Given the description of an element on the screen output the (x, y) to click on. 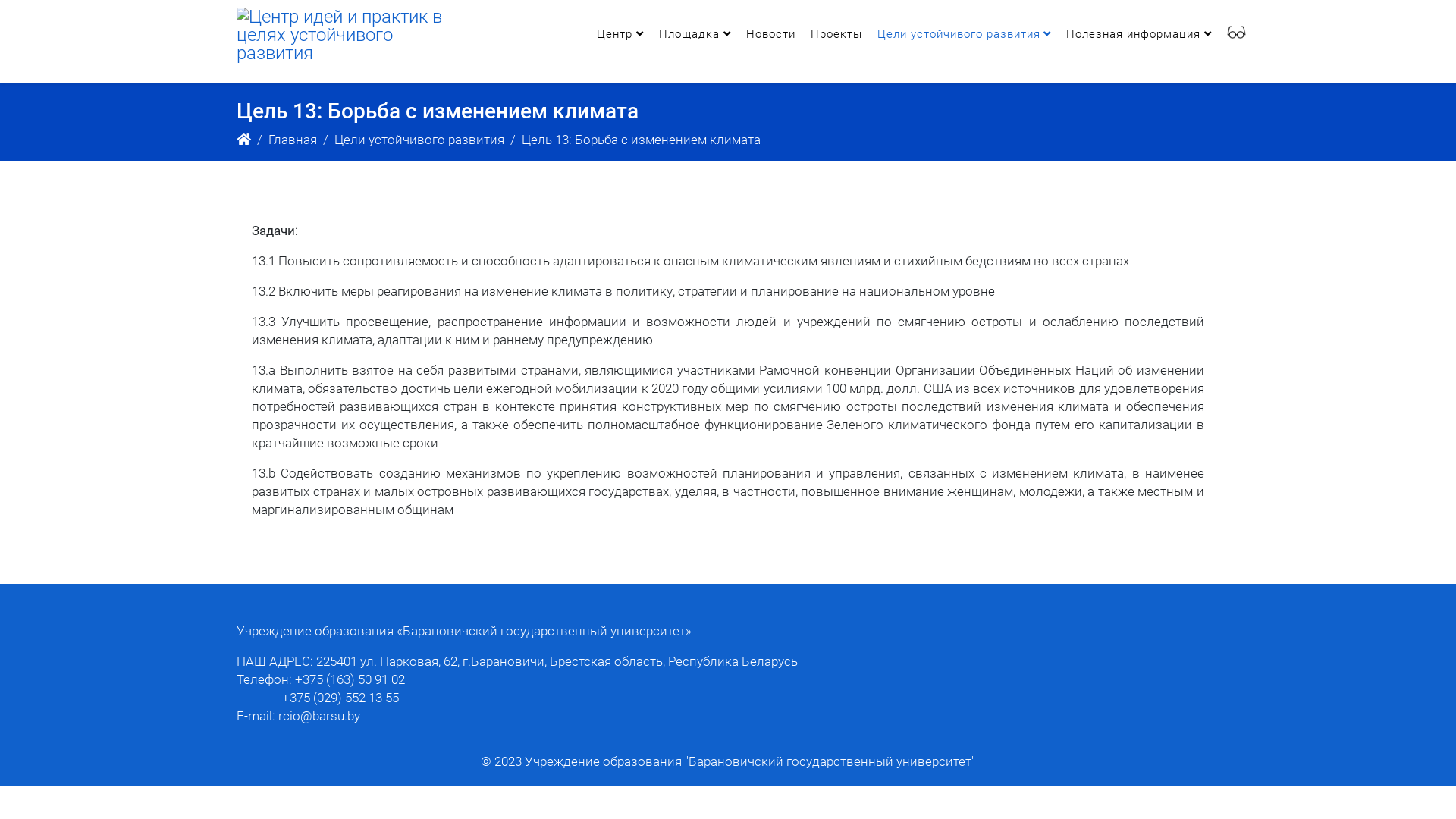
rcio@barsu.by Element type: text (319, 715)
